Given the description of an element on the screen output the (x, y) to click on. 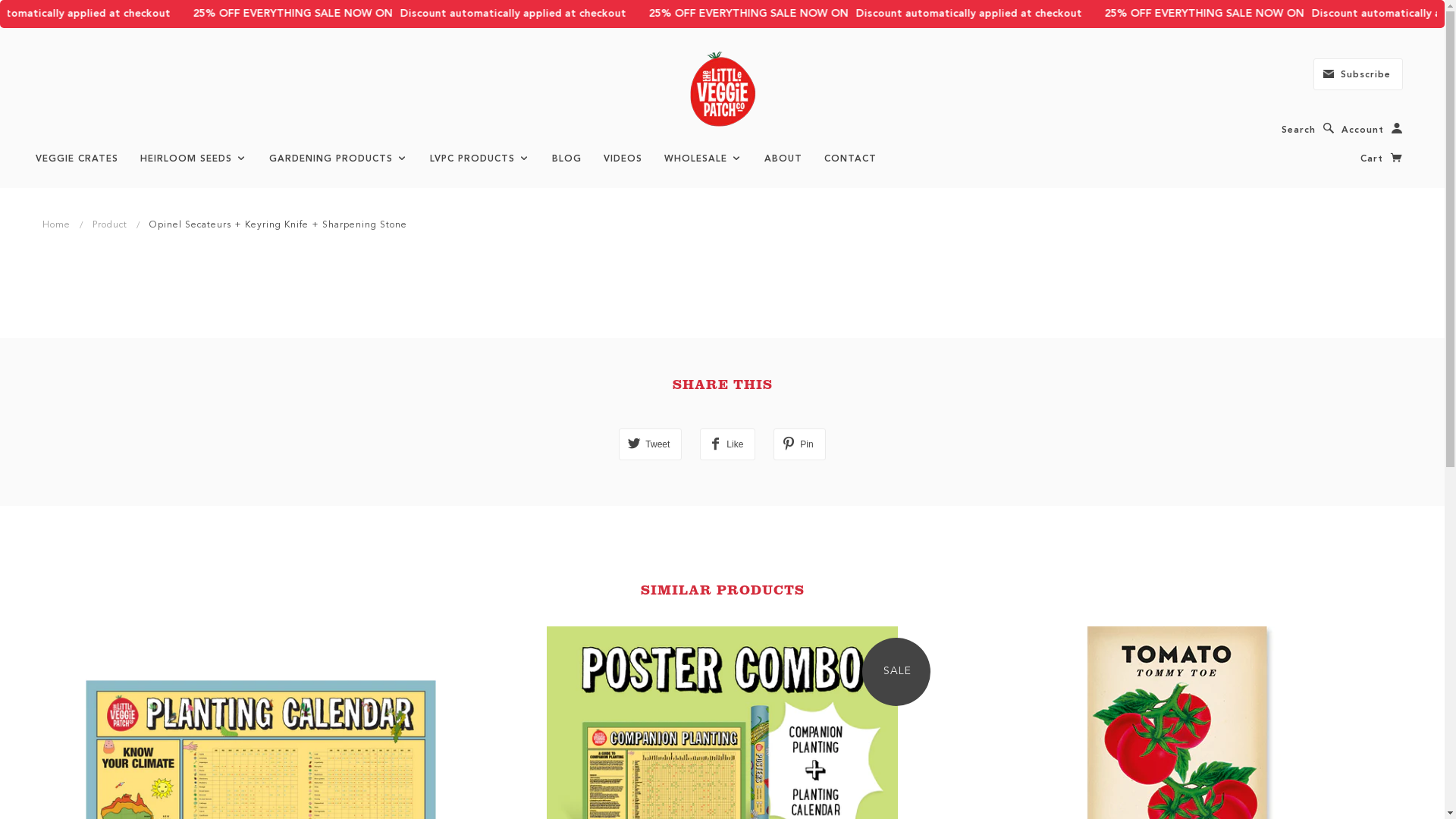
VIDEOS Element type: text (622, 158)
Home Element type: text (56, 224)
Search Element type: text (1307, 129)
ABOUT Element type: text (783, 158)
The Little Veggie Patch Co Element type: hover (721, 88)
SALE Element type: text (896, 671)
CONTACT Element type: text (850, 158)
Like Element type: text (727, 444)
WHOLESALE Element type: text (703, 158)
Product Element type: text (109, 224)
Subscribe Element type: text (1357, 74)
VEGGIE CRATES Element type: text (76, 158)
Account Element type: text (1371, 129)
HEIRLOOM SEEDS Element type: text (193, 158)
Cart Element type: text (1381, 158)
Tweet Element type: text (649, 444)
Pin Element type: text (799, 444)
BLOG Element type: text (566, 158)
LVPC PRODUCTS Element type: text (479, 158)
GARDENING PRODUCTS Element type: text (338, 158)
